Given the description of an element on the screen output the (x, y) to click on. 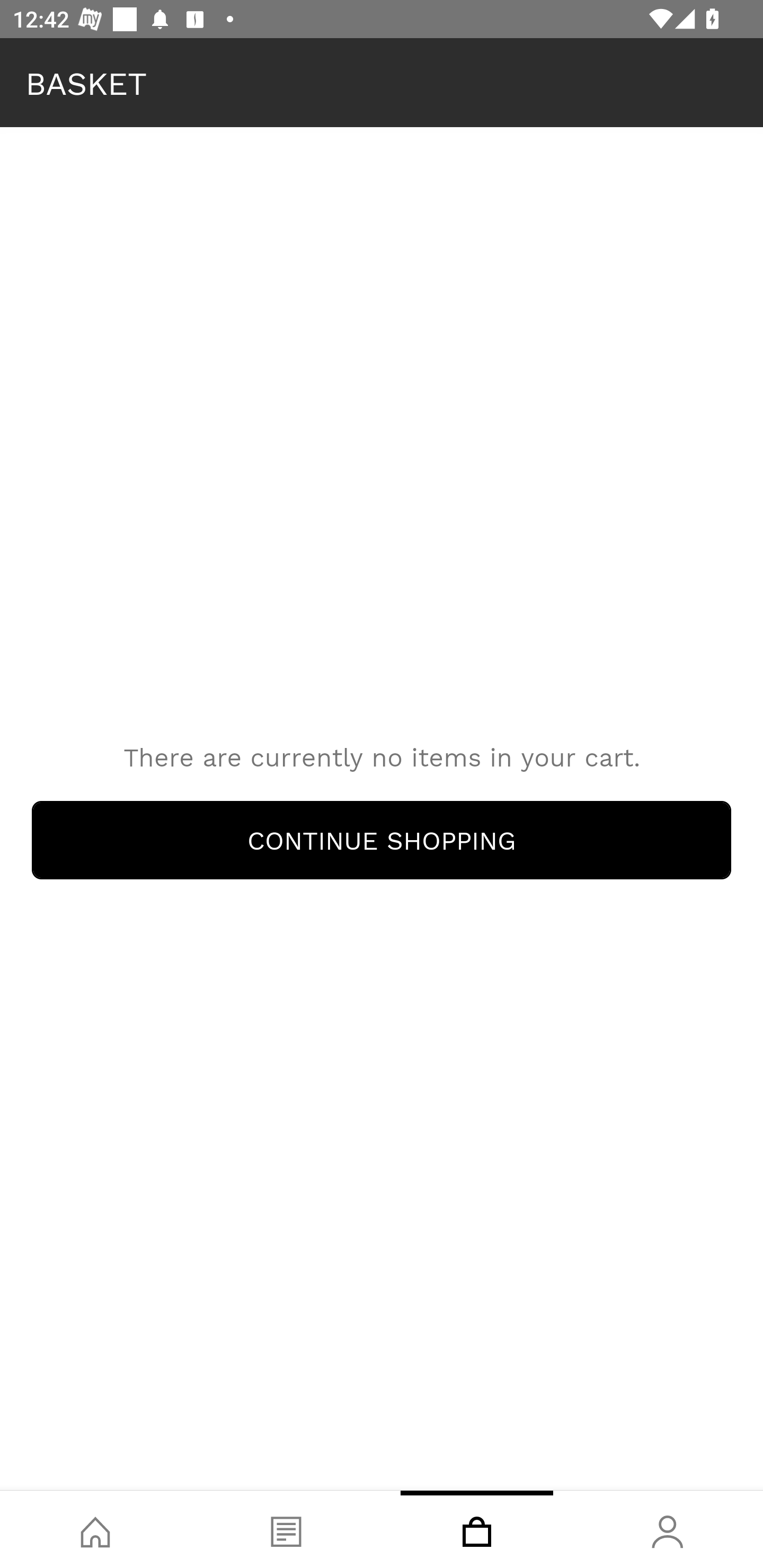
Continue Shopping CONTINUE SHOPPING (381, 840)
Shop, tab, 1 of 4 (95, 1529)
Blog, tab, 2 of 4 (285, 1529)
Basket, tab, 3 of 4 (476, 1529)
Account, tab, 4 of 4 (667, 1529)
